Given the description of an element on the screen output the (x, y) to click on. 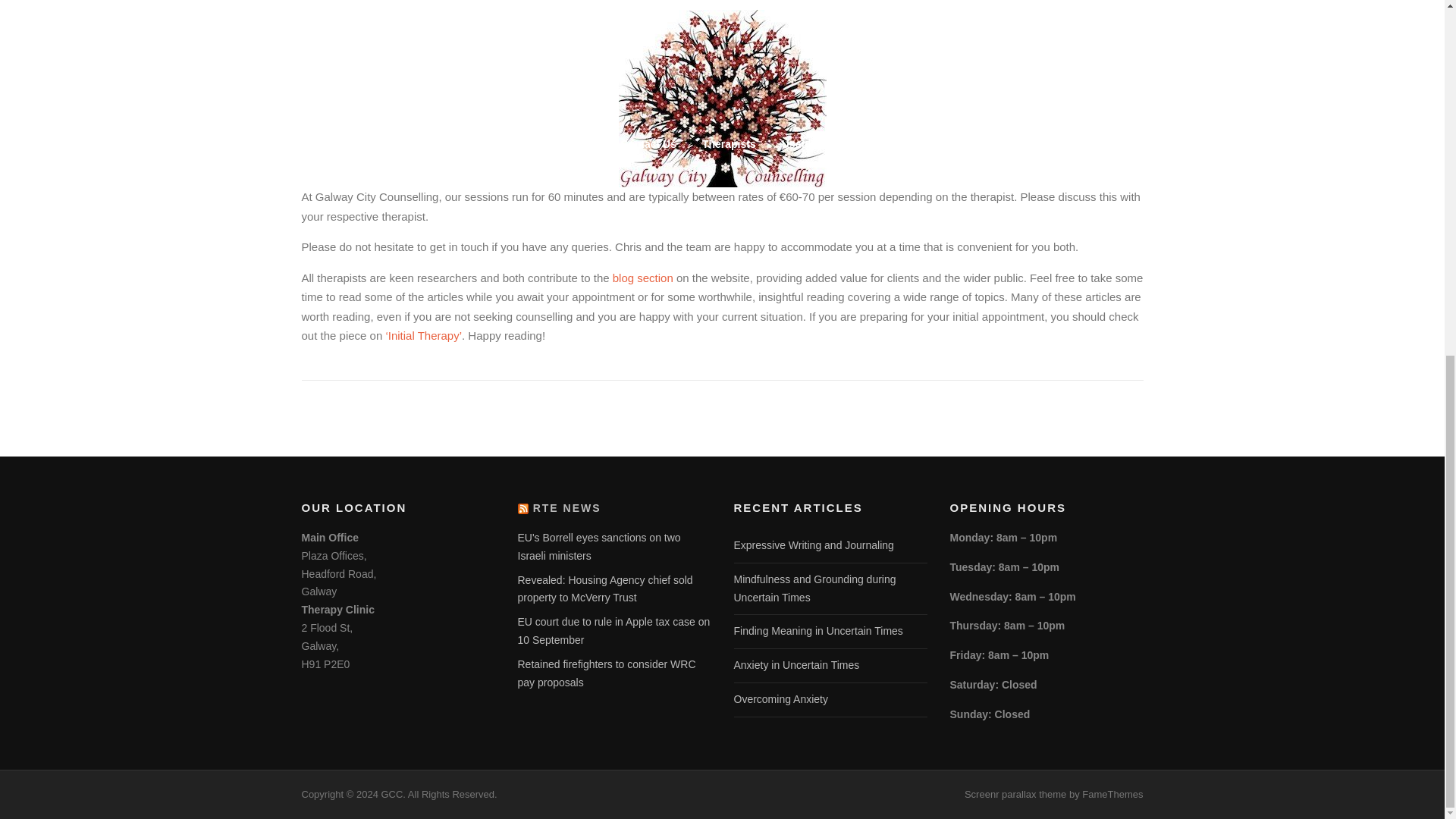
Expressive Writing and Journaling (813, 544)
EU court due to rule in Apple tax case on 10 September (613, 630)
blog section (642, 277)
Anxiety in Uncertain Times (796, 664)
Overcoming Anxiety (780, 698)
Mindfulness and Grounding during Uncertain Times (814, 588)
Retained firefighters to consider WRC pay proposals (605, 673)
Screenr parallax theme (1014, 794)
EU's Borrell eyes sanctions on two Israeli ministers (597, 546)
